Given the description of an element on the screen output the (x, y) to click on. 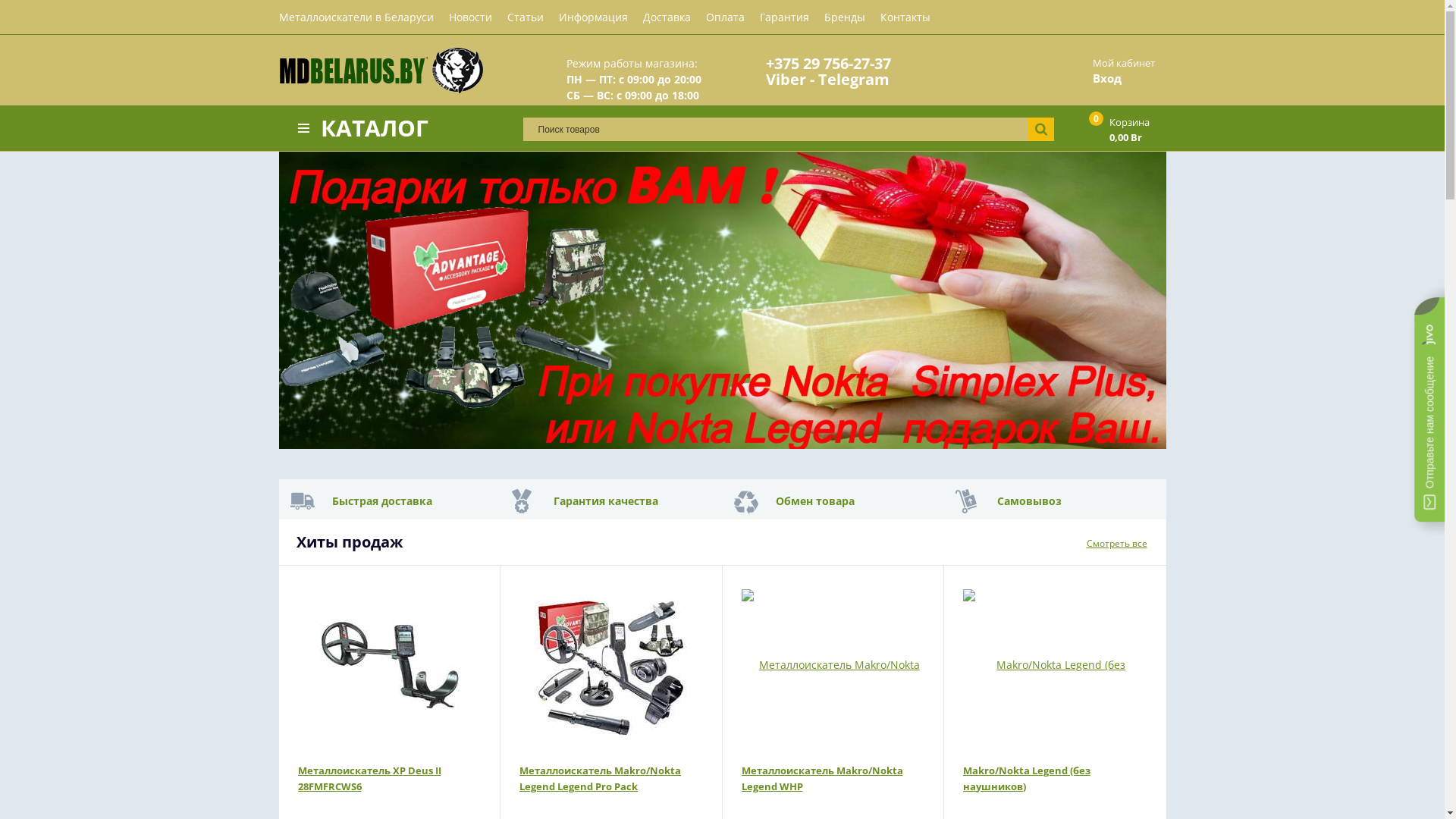
Viber - Telegram Element type: text (827, 79)
+375 29 756-27-37 Element type: text (828, 63)
